Given the description of an element on the screen output the (x, y) to click on. 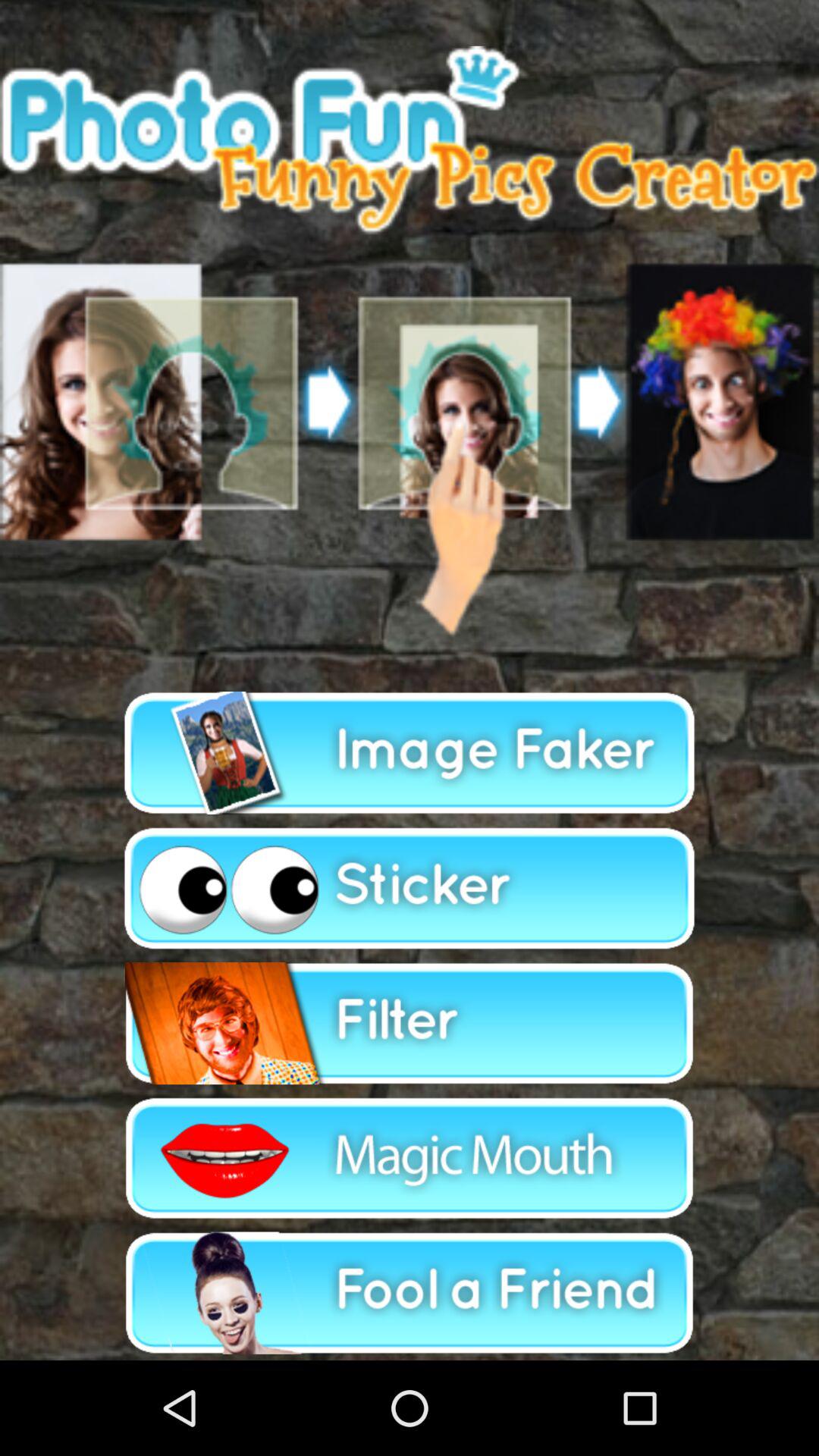
edit image (409, 1158)
